Given the description of an element on the screen output the (x, y) to click on. 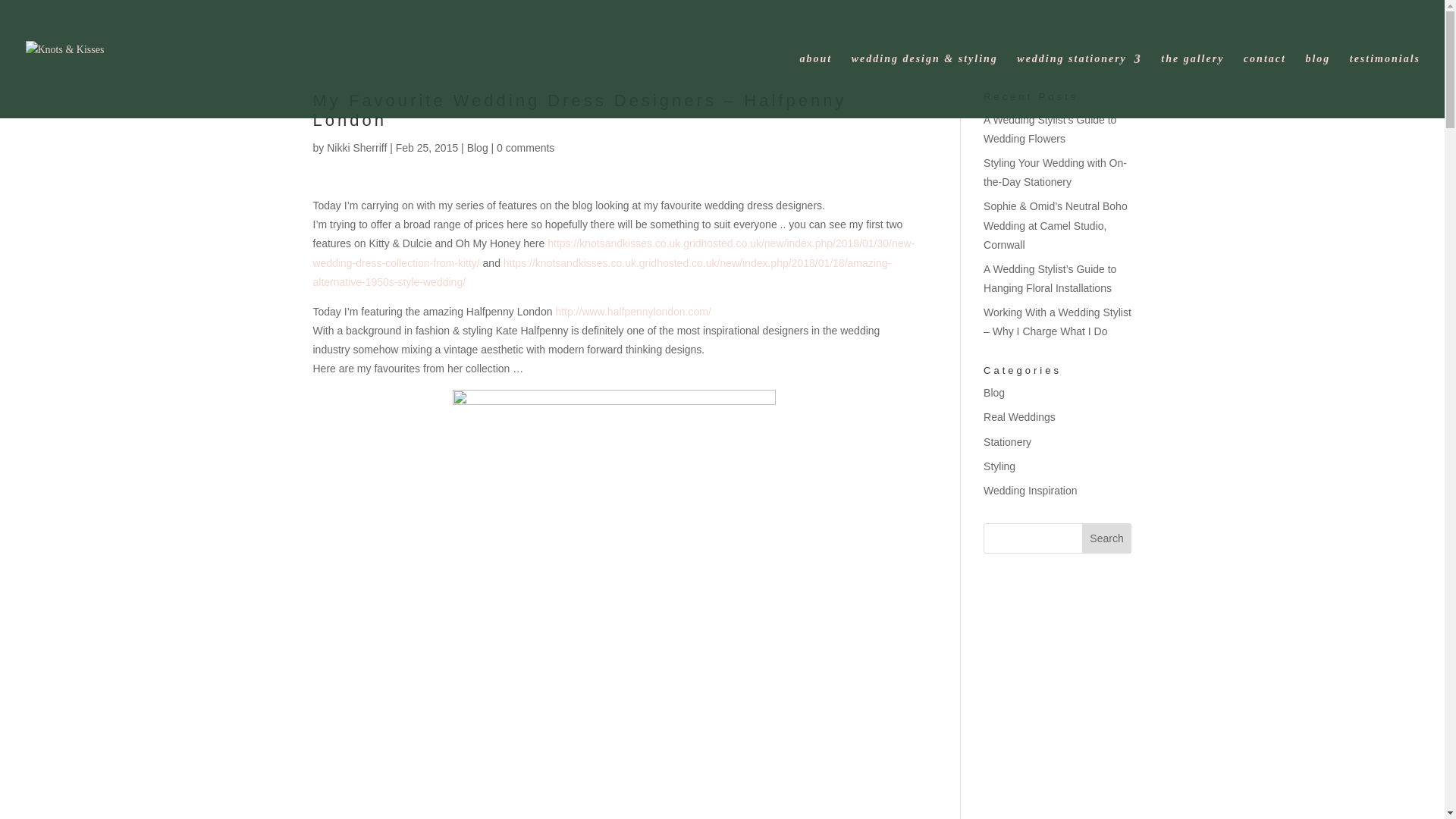
testimonials (1385, 85)
Blog (477, 147)
Posts by Nikki Sherriff (356, 147)
Real Weddings (1019, 417)
Wedding Inspiration (1030, 490)
Styling Your Wedding with On-the-Day Stationery (1055, 172)
Blog (994, 392)
0 comments (525, 147)
Search (1106, 538)
wedding stationery (1078, 85)
